Given the description of an element on the screen output the (x, y) to click on. 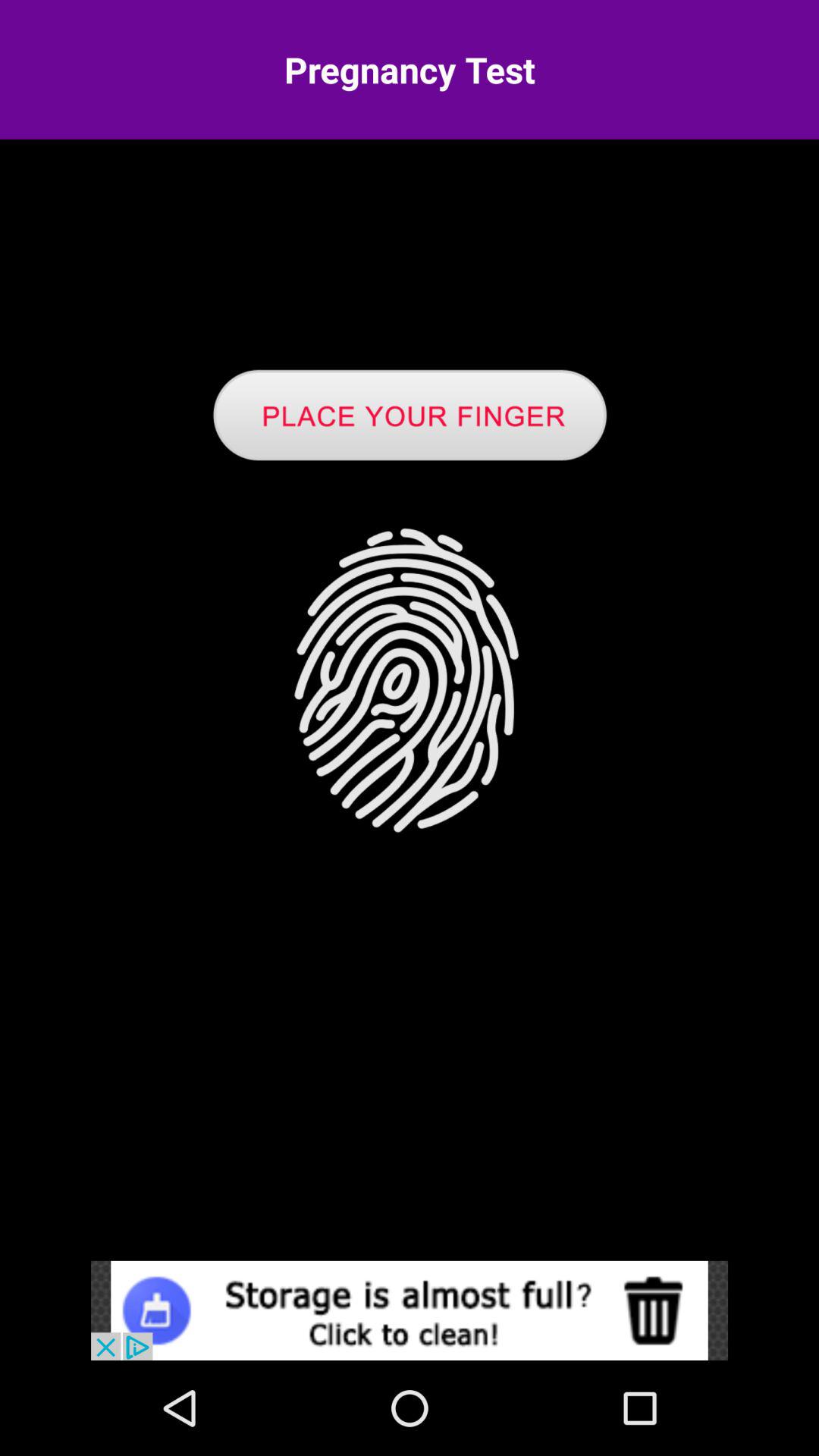
see advertisement (409, 1310)
